Given the description of an element on the screen output the (x, y) to click on. 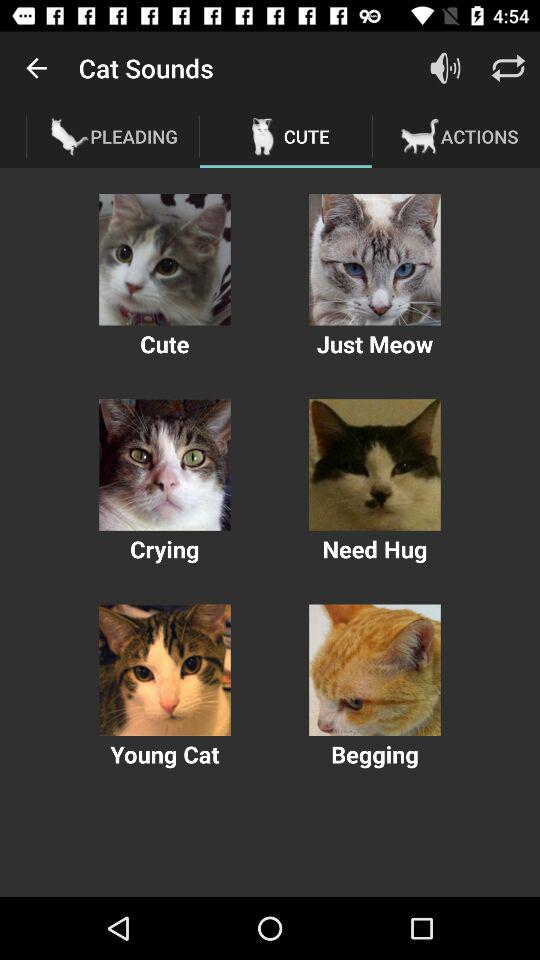
select the cute option (164, 259)
